Given the description of an element on the screen output the (x, y) to click on. 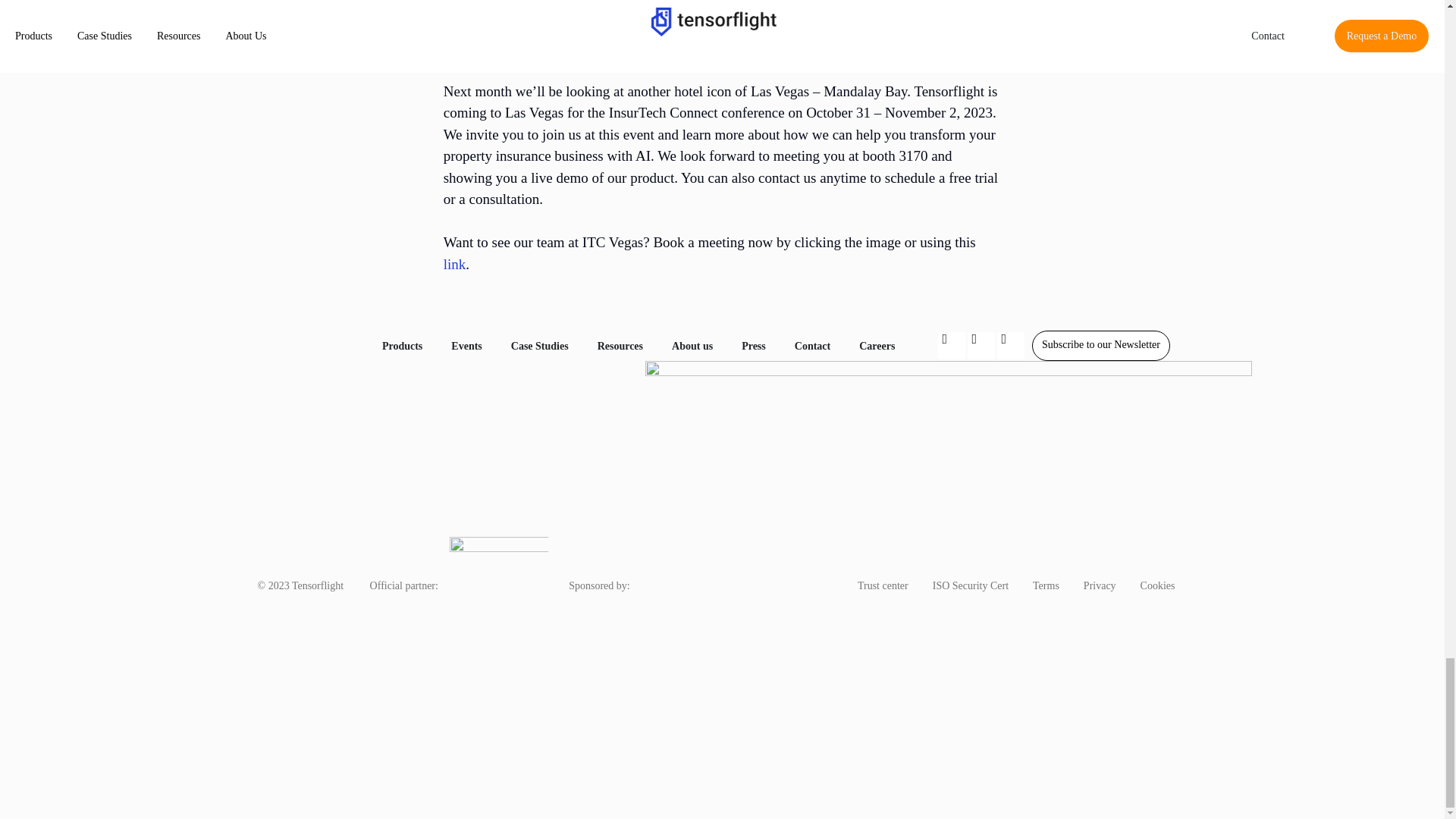
Events (466, 345)
link (454, 263)
Resources (619, 345)
Press (753, 345)
Contact (811, 345)
Careers (877, 345)
Case Studies (540, 345)
Products (401, 345)
About us (692, 345)
